Given the description of an element on the screen output the (x, y) to click on. 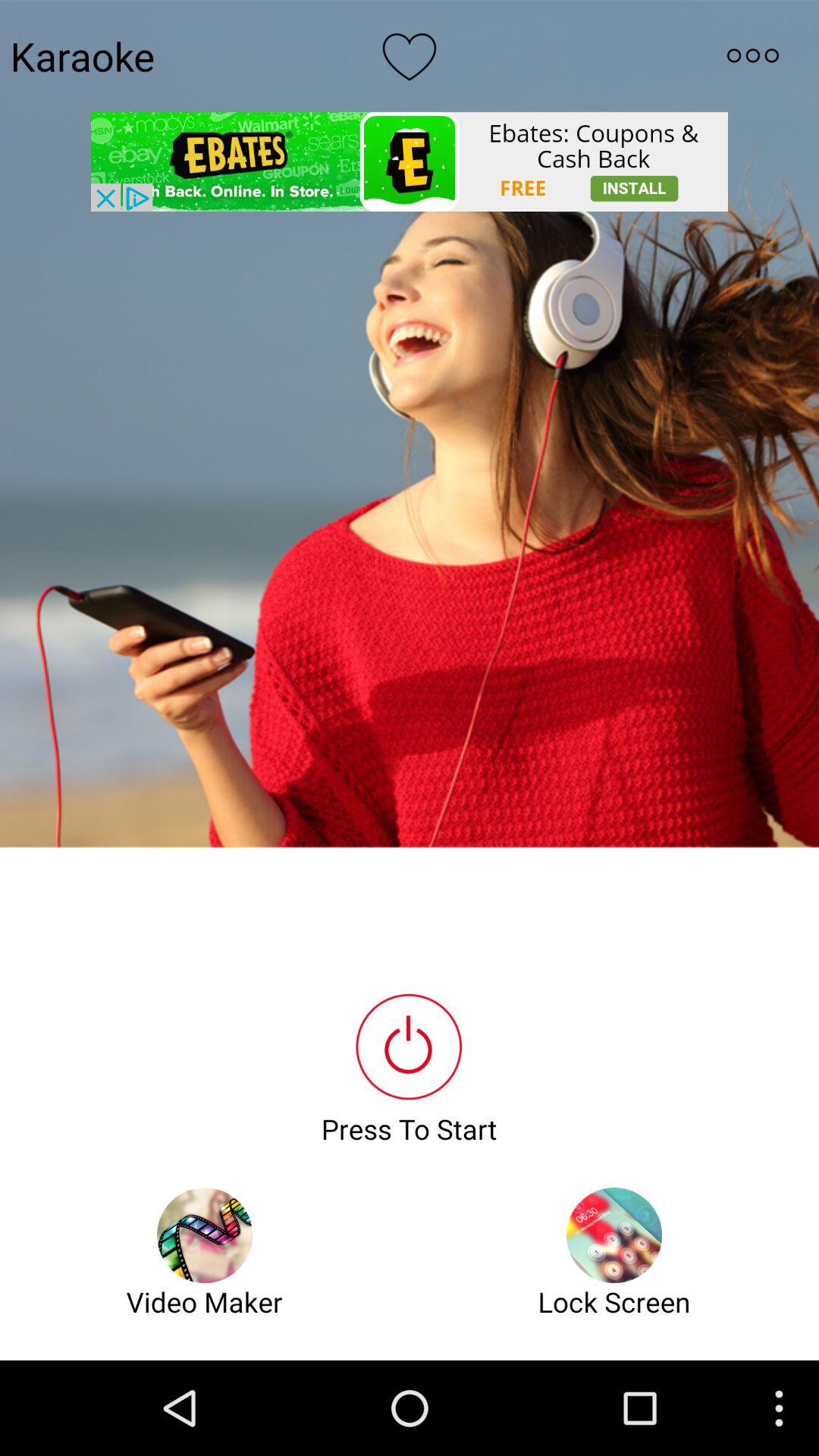
go to like (409, 55)
